Given the description of an element on the screen output the (x, y) to click on. 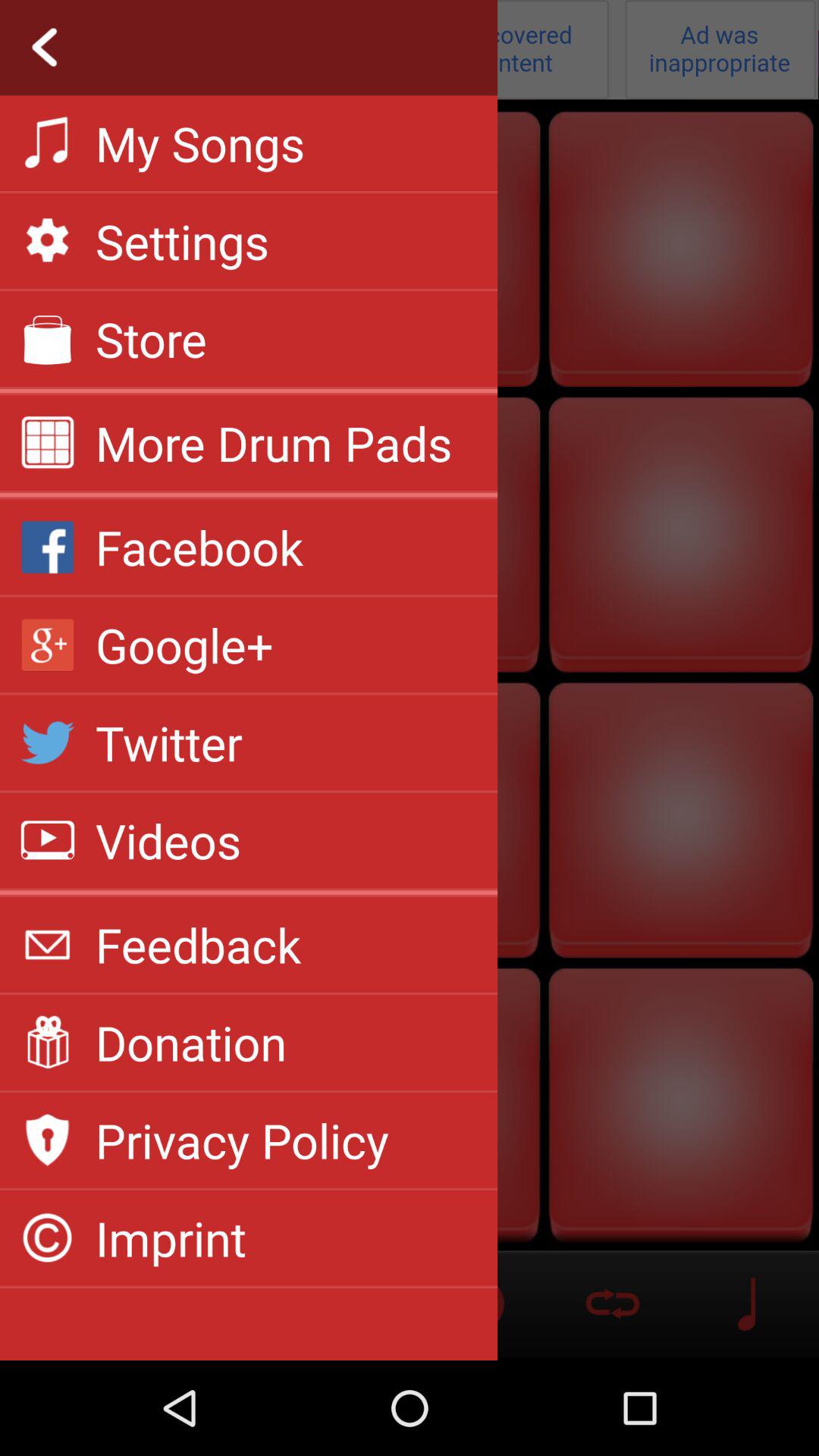
close settings (409, 49)
